Given the description of an element on the screen output the (x, y) to click on. 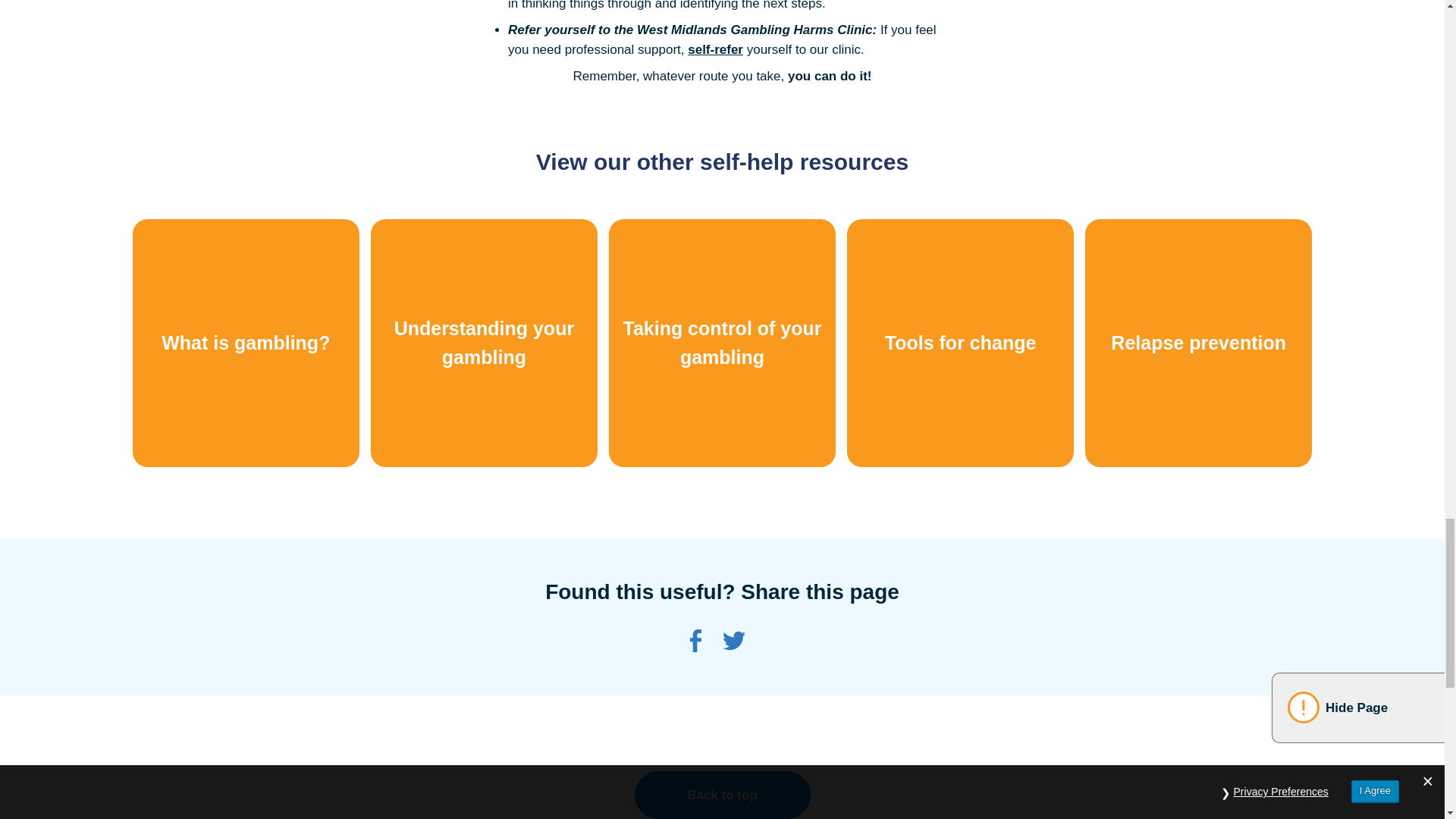
Back to top (721, 795)
Relapse prevention (1197, 342)
What is gambling? (245, 342)
Tools for change (960, 342)
Taking control of your gambling (721, 342)
self-refer (714, 49)
Understanding your gambling (483, 342)
